Given the description of an element on the screen output the (x, y) to click on. 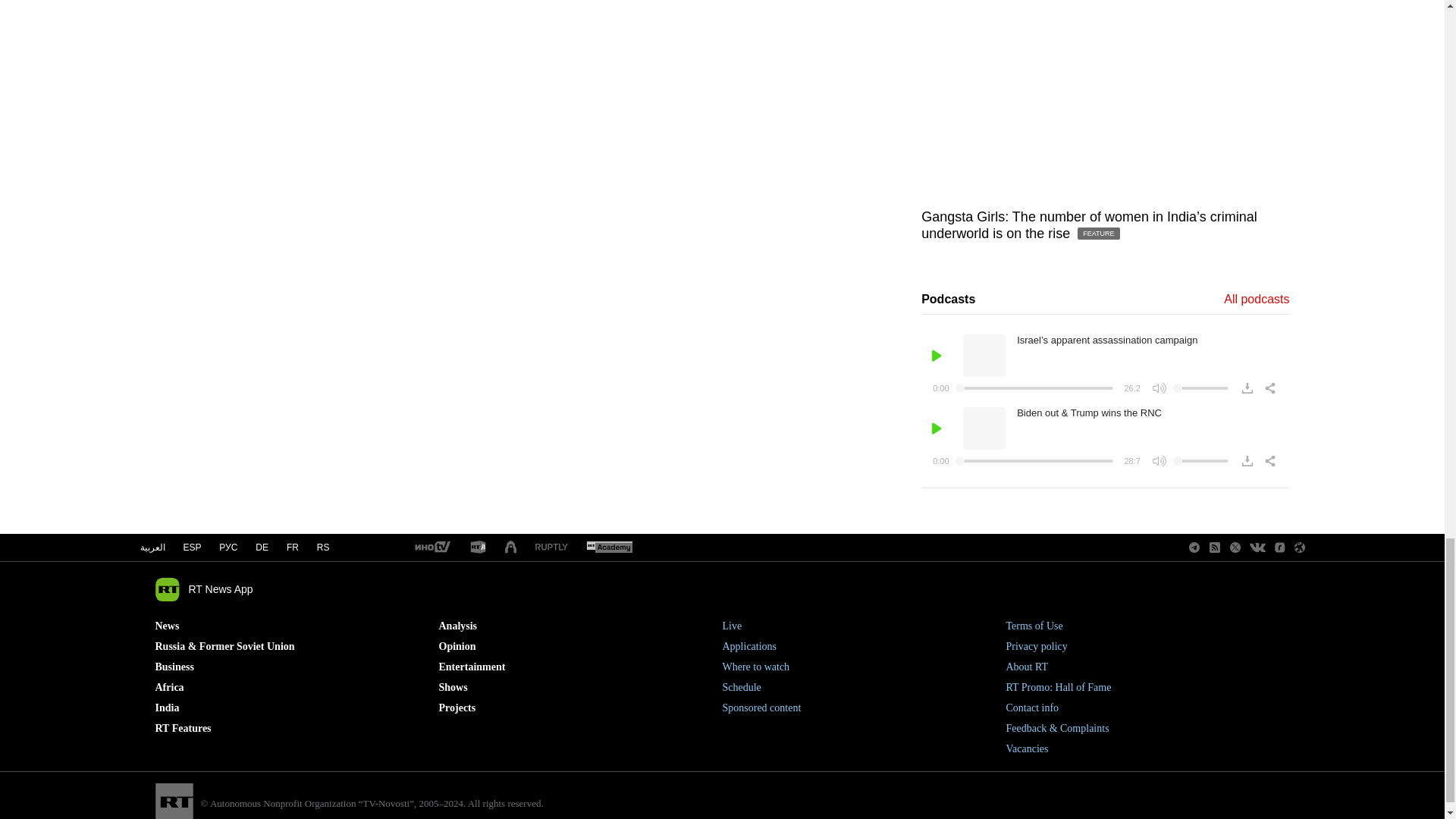
RT  (608, 547)
RT  (478, 547)
RT  (431, 547)
RT  (551, 547)
